Given the description of an element on the screen output the (x, y) to click on. 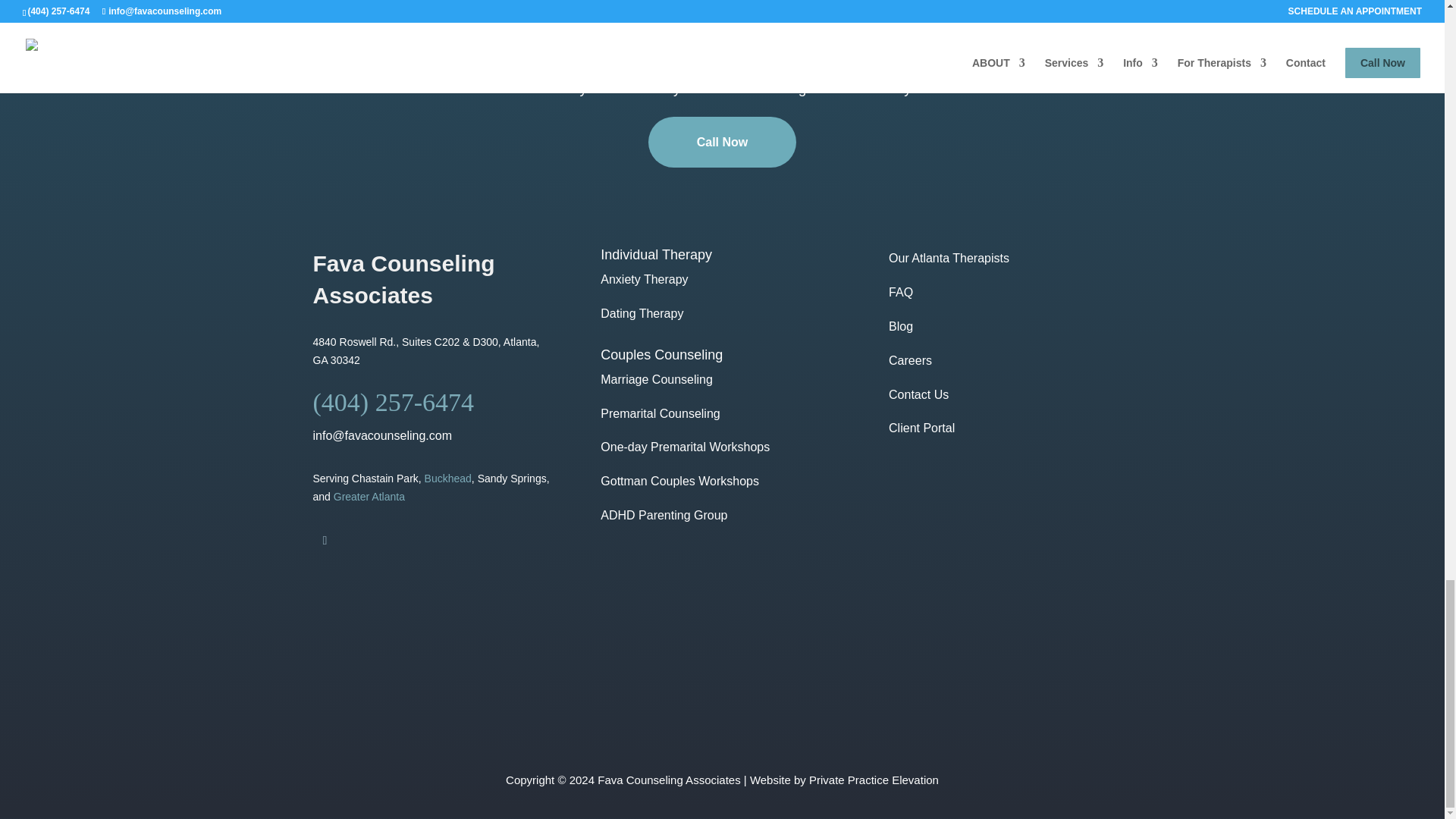
Seven-Principles-Leader-Badge-1-1 (1046, 663)
grn-badge-approved (830, 664)
Follow on Facebook (324, 540)
certified-member-widget-design-clear-white (614, 663)
